Given the description of an element on the screen output the (x, y) to click on. 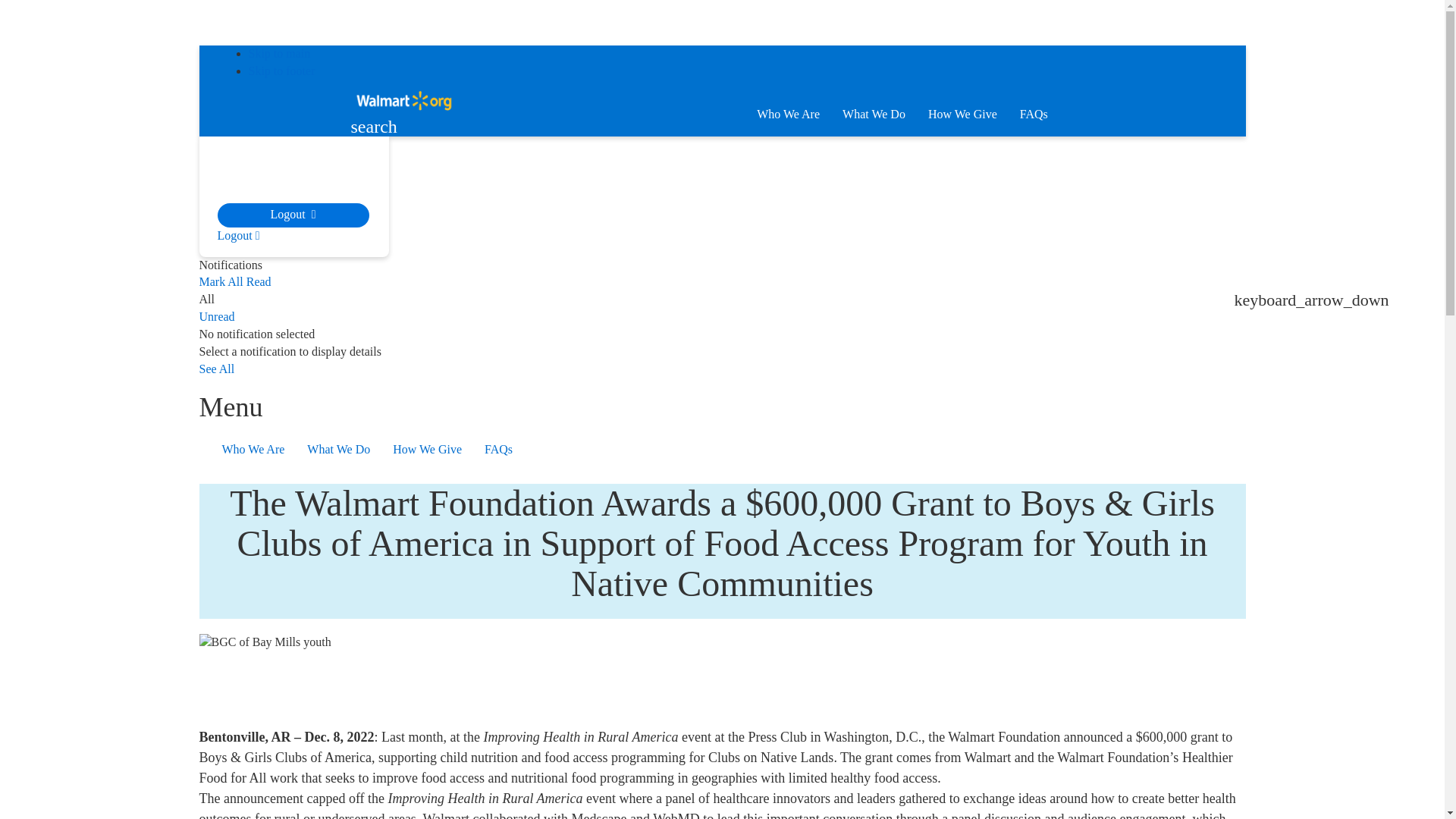
Skip to main (279, 52)
FAQs (1034, 114)
How We Give (962, 114)
What We Do (874, 114)
Skip to footer (281, 70)
Who We Are (788, 114)
